Given the description of an element on the screen output the (x, y) to click on. 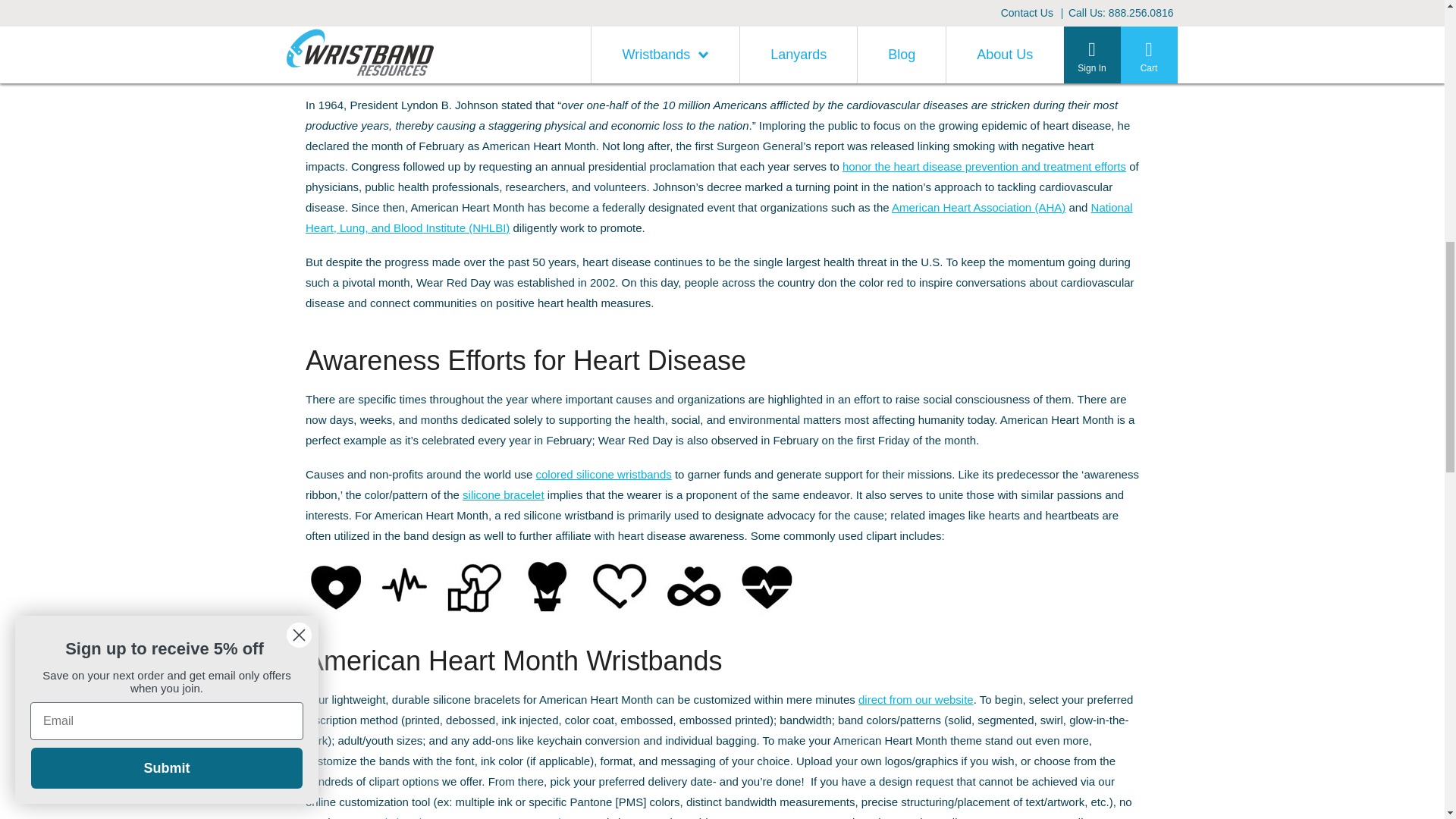
colored silicone wristbands (603, 473)
honor the heart disease prevention and treatment efforts (984, 165)
